Given the description of an element on the screen output the (x, y) to click on. 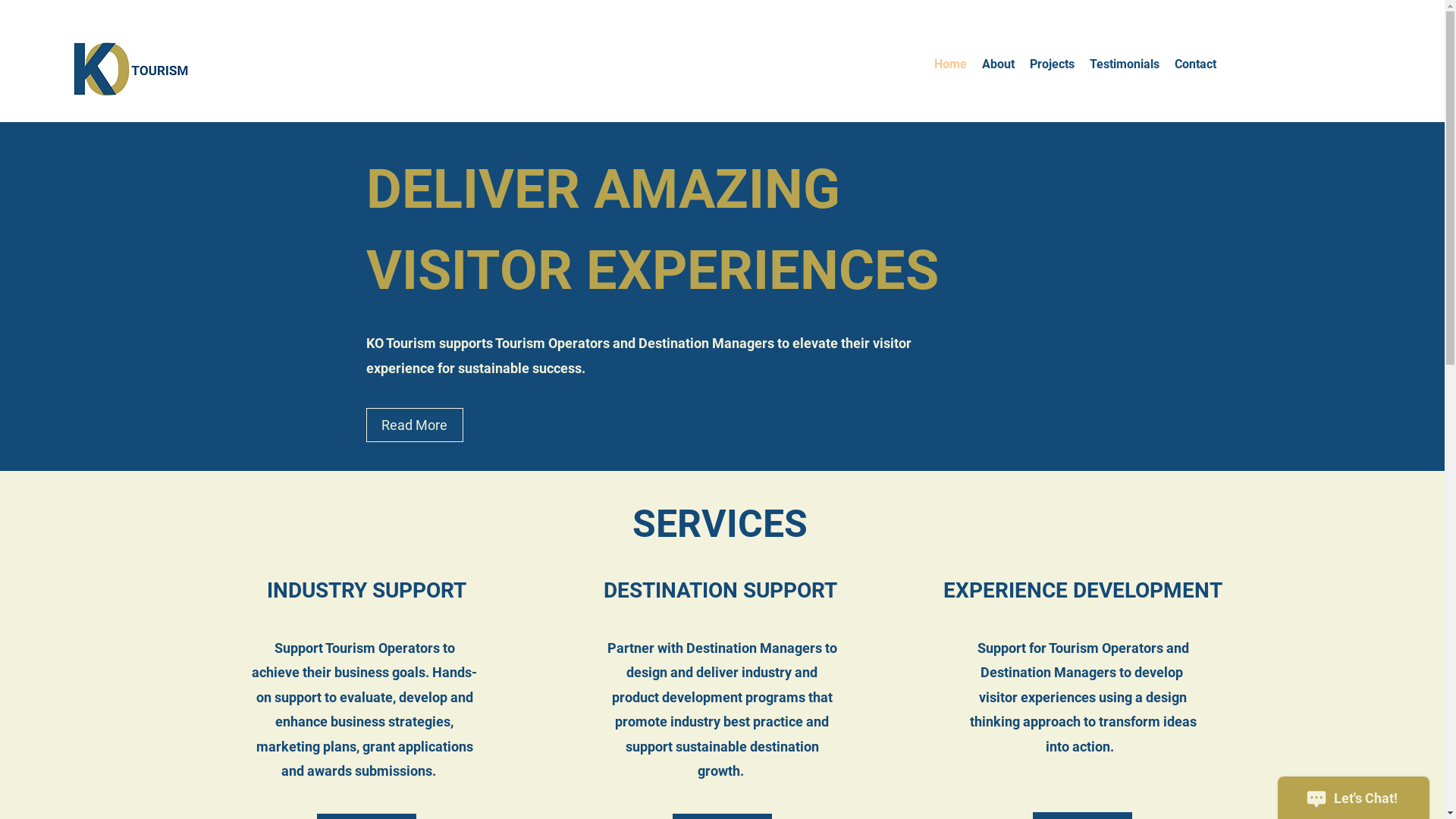
About Element type: text (998, 64)
Testimonials Element type: text (1124, 64)
Contact Element type: text (1195, 64)
Projects Element type: text (1052, 64)
Read More Element type: text (413, 424)
TWIPLA (Visitor Analytics) Element type: hover (115, 430)
Home Element type: text (950, 64)
KO Tourism Logo_cut out.png Element type: hover (470, 81)
